Given the description of an element on the screen output the (x, y) to click on. 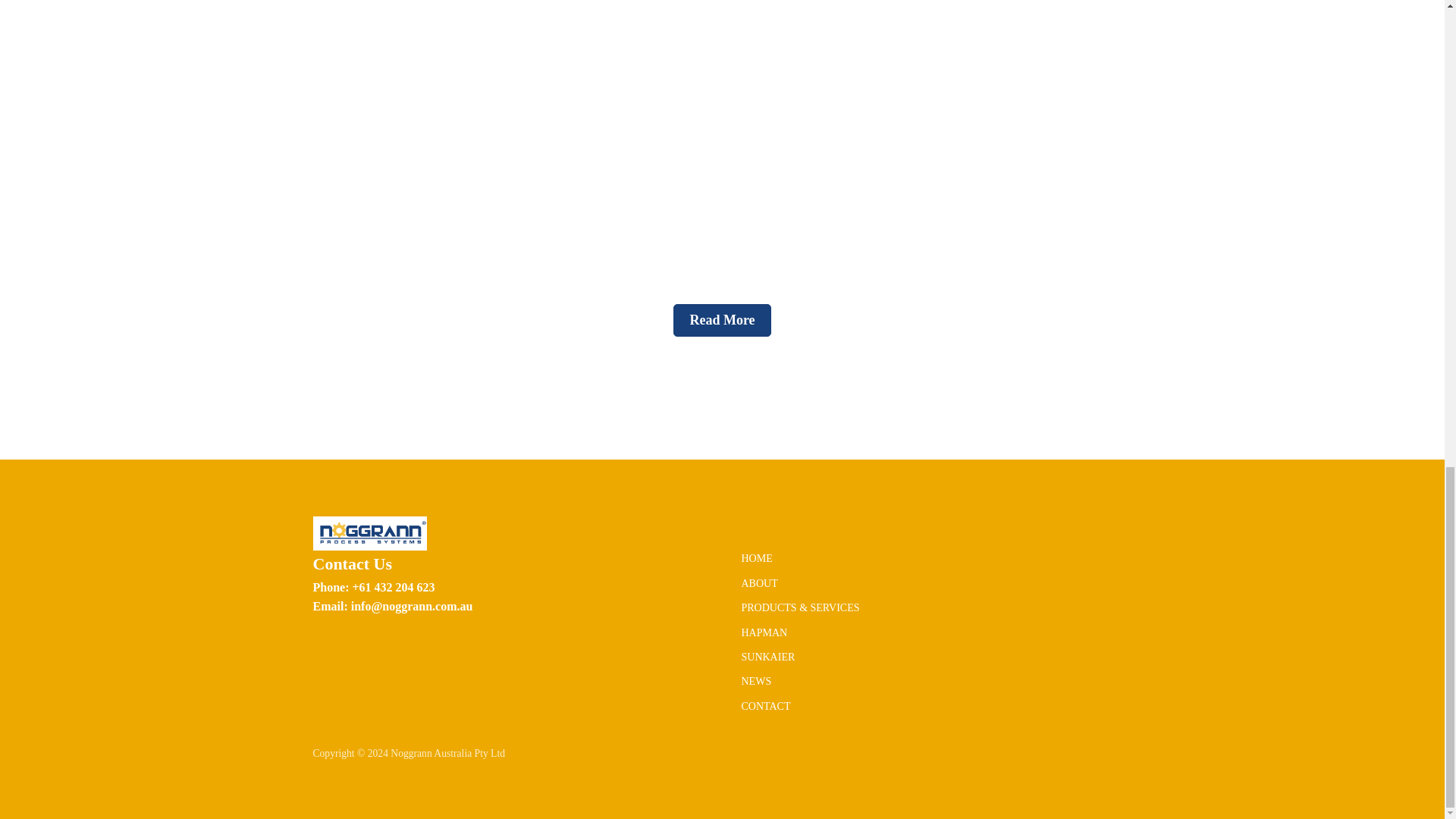
Hapman's Bag Dump Stations (721, 135)
CONTACT (765, 706)
Read More (721, 319)
HOME (757, 558)
SUNKAIER (767, 657)
HAPMAN (764, 632)
ABOUT (759, 583)
NEWS (756, 681)
